Given the description of an element on the screen output the (x, y) to click on. 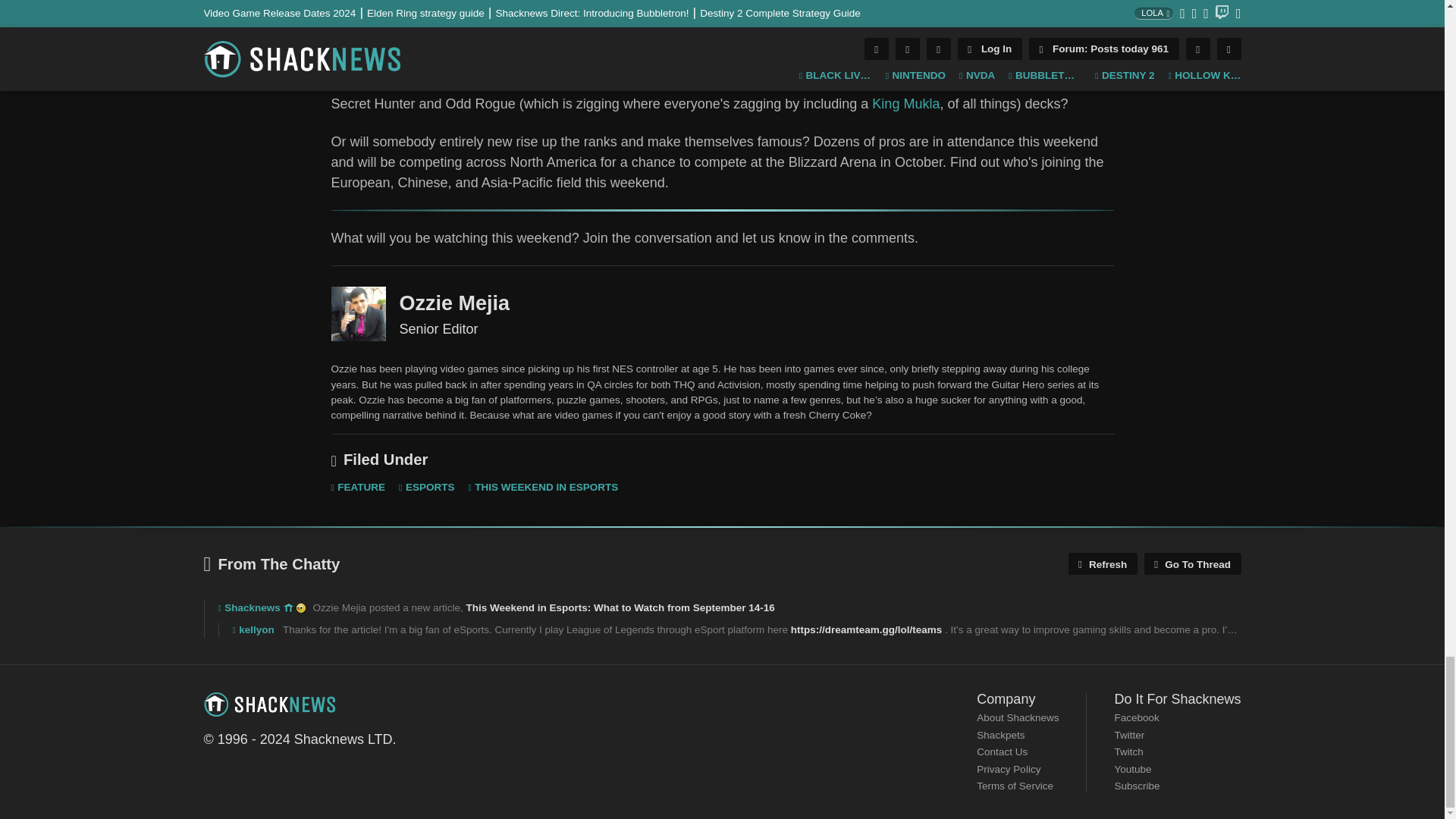
legacy 20 years (300, 607)
legacy 10 years (288, 607)
Senior Editor (357, 313)
